Given the description of an element on the screen output the (x, y) to click on. 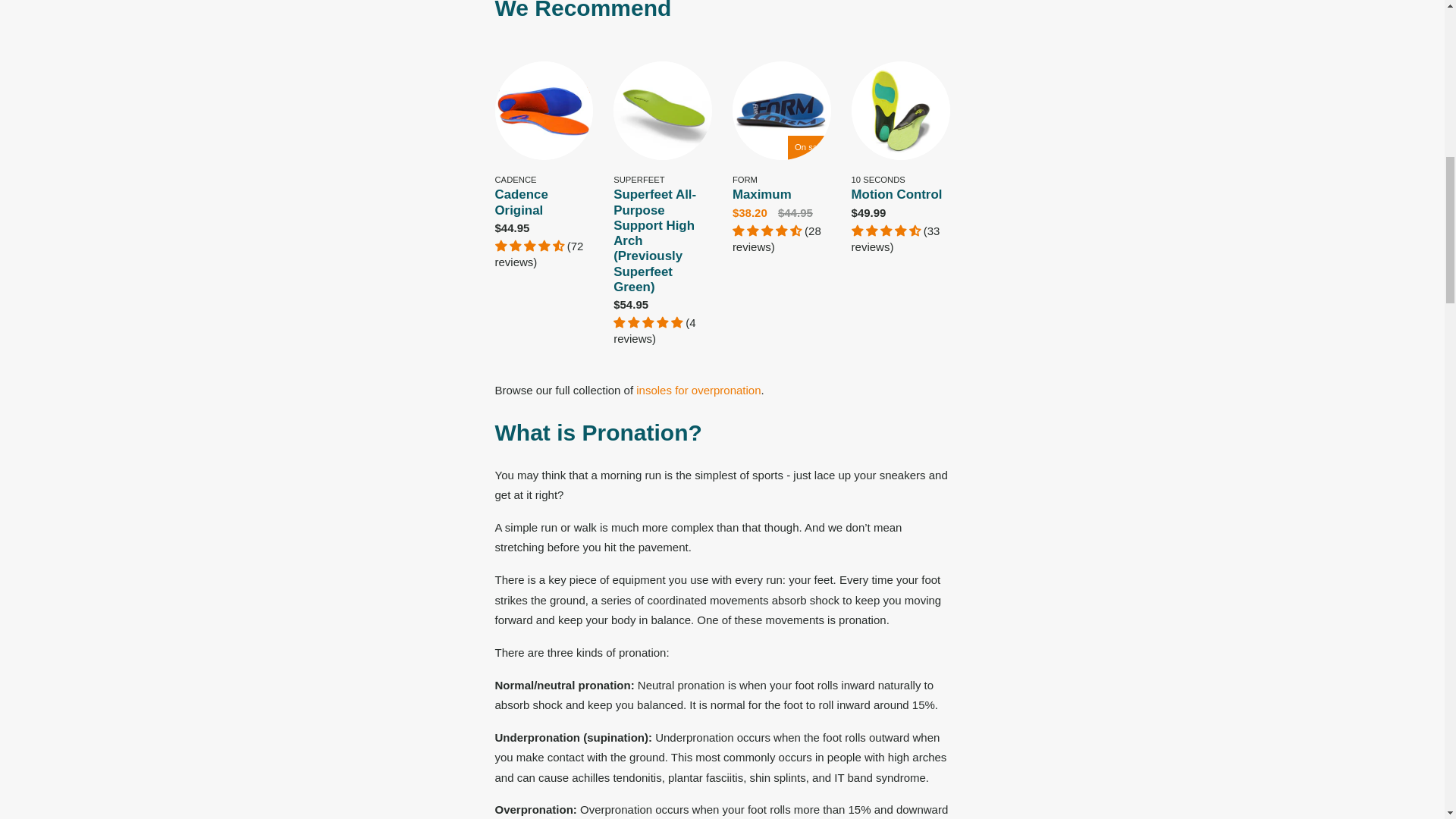
CADENCE (515, 179)
SUPERFEET (638, 179)
FORM (744, 179)
10 SECONDS (878, 179)
